Given the description of an element on the screen output the (x, y) to click on. 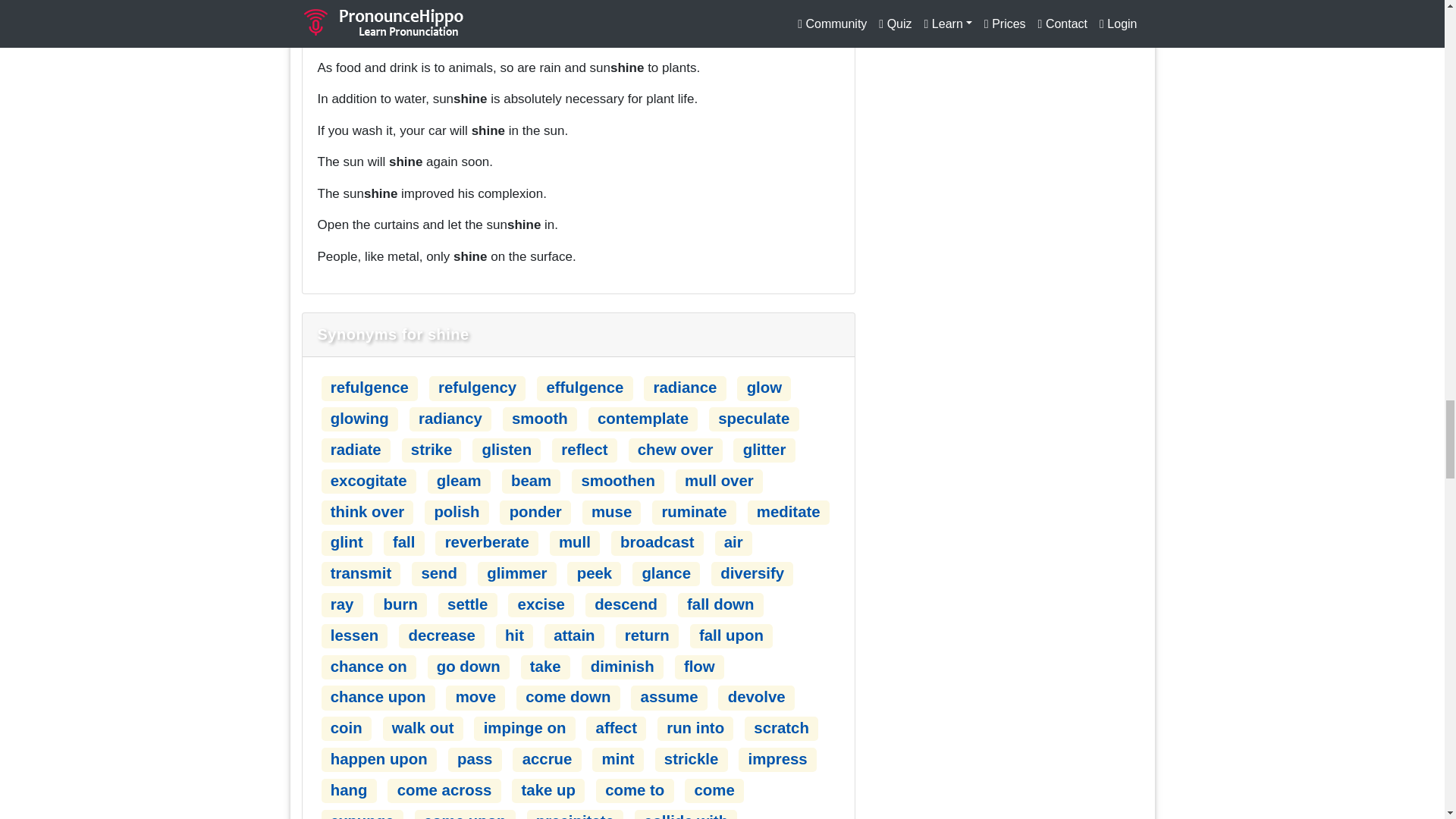
How To Pronounce refulgence (369, 387)
contemplate (642, 418)
radiancy (450, 418)
How To Pronounce radiance (685, 387)
speculate (753, 418)
refulgence (369, 387)
How To Pronounce effulgence (584, 387)
smooth (539, 418)
radiate (355, 449)
glow (763, 387)
radiance (685, 387)
glowing (359, 418)
How To Pronounce refulgency (477, 387)
strike (430, 449)
refulgency (477, 387)
